Given the description of an element on the screen output the (x, y) to click on. 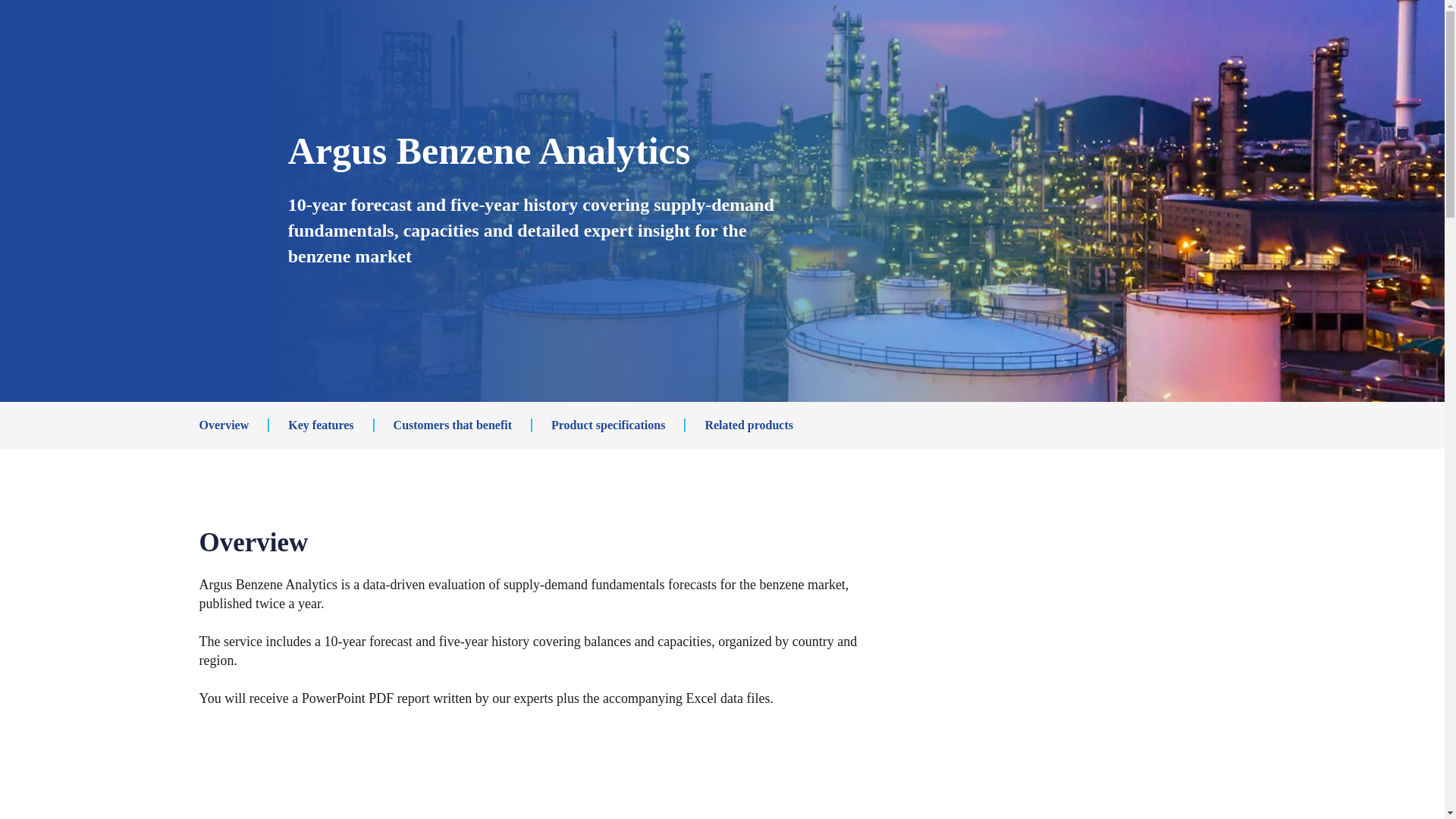
Related products (748, 425)
Key features (320, 425)
Product specifications (608, 425)
Customers that benefit (452, 425)
Overview (223, 425)
